Given the description of an element on the screen output the (x, y) to click on. 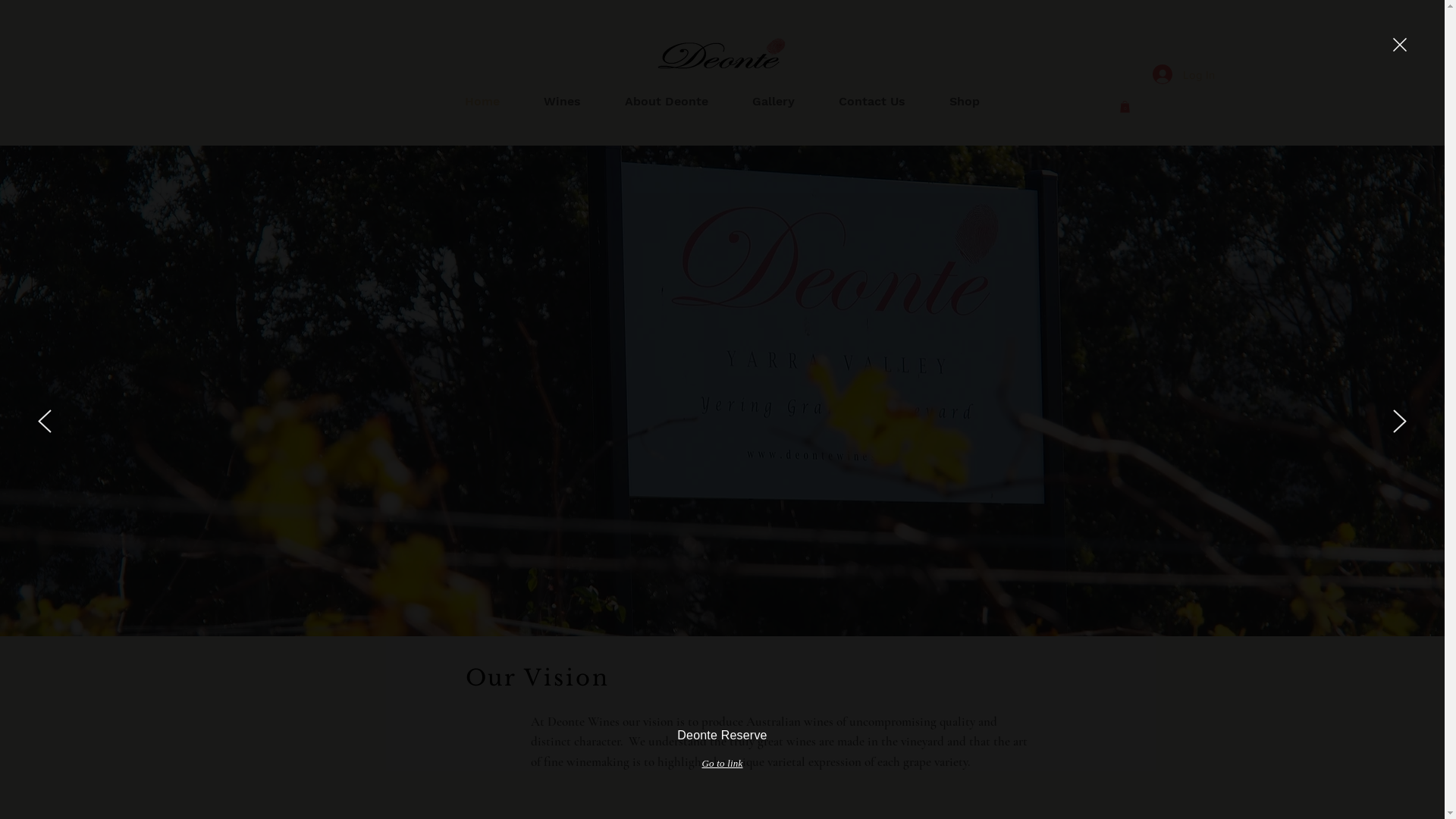
Gallery Element type: text (772, 101)
Contact Us Element type: text (870, 101)
Log In Element type: text (1183, 73)
About Deonte Element type: text (665, 101)
0 Element type: text (1124, 106)
Shop Element type: text (963, 101)
Home Element type: text (481, 101)
